Given the description of an element on the screen output the (x, y) to click on. 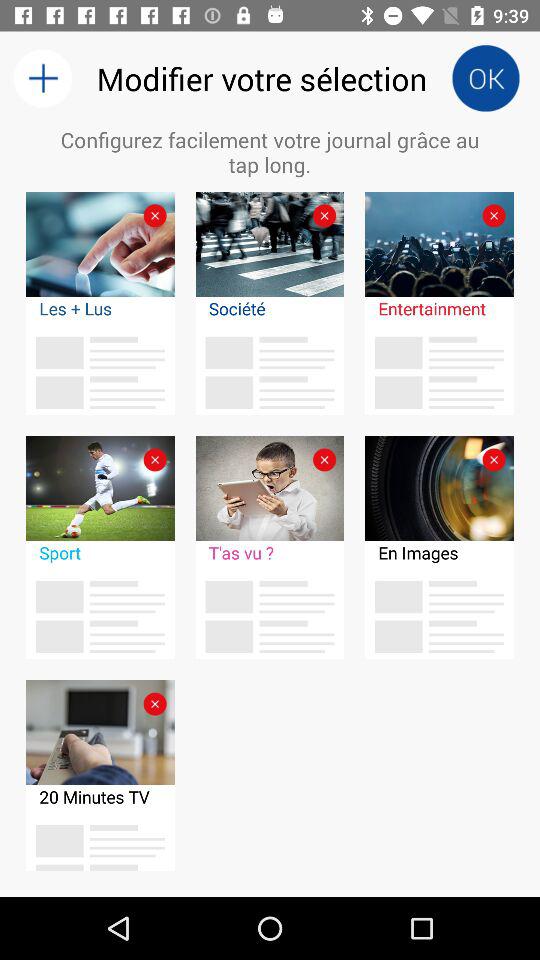
turn on item above the configurez facilement votre icon (485, 78)
